Given the description of an element on the screen output the (x, y) to click on. 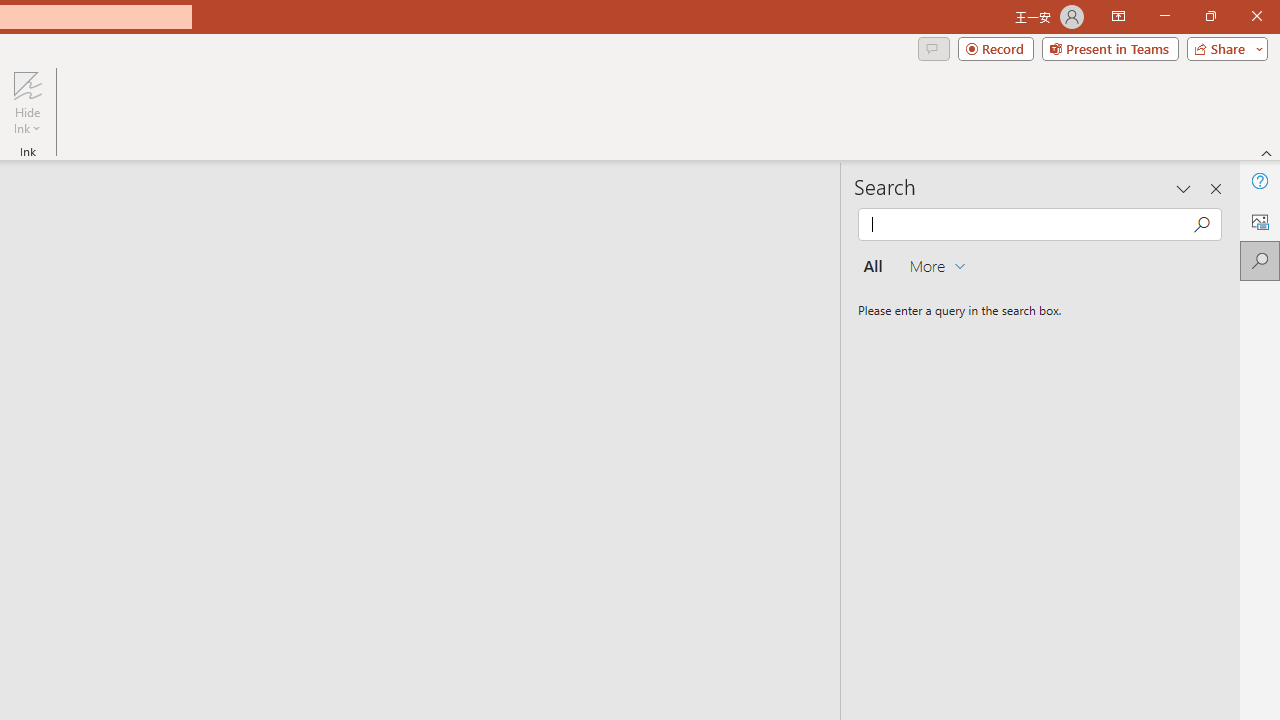
Hide Ink (27, 102)
Alt Text (1260, 220)
